Given the description of an element on the screen output the (x, y) to click on. 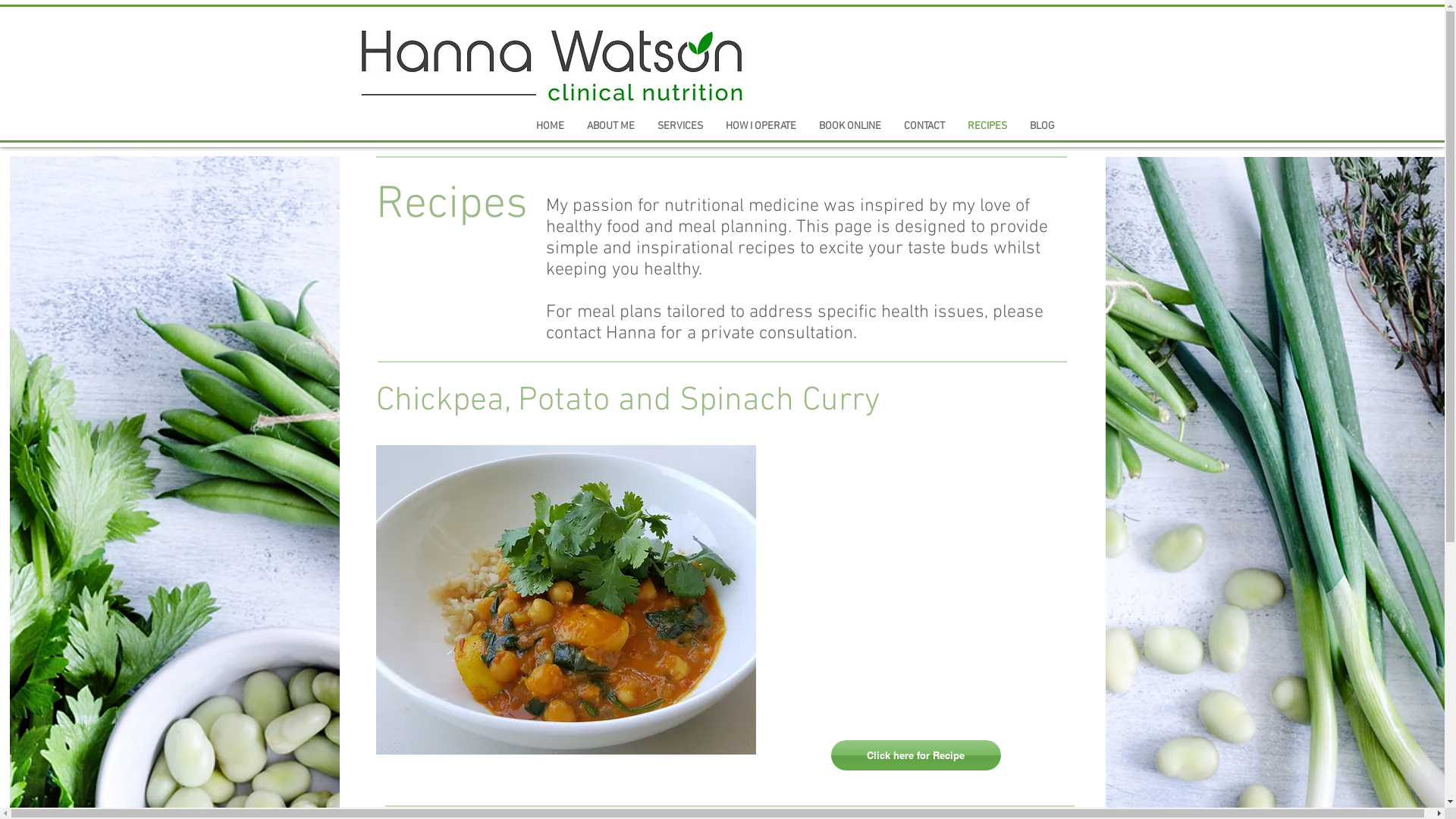
ABOUT ME Element type: text (609, 125)
Click here for Recipe Element type: text (916, 755)
HOME Element type: text (549, 125)
BLOG Element type: text (1041, 125)
CONTACT Element type: text (923, 125)
HOW I OPERATE Element type: text (760, 125)
RECIPES Element type: text (986, 125)
SERVICES Element type: text (680, 125)
BOOK ONLINE Element type: text (848, 125)
